Given the description of an element on the screen output the (x, y) to click on. 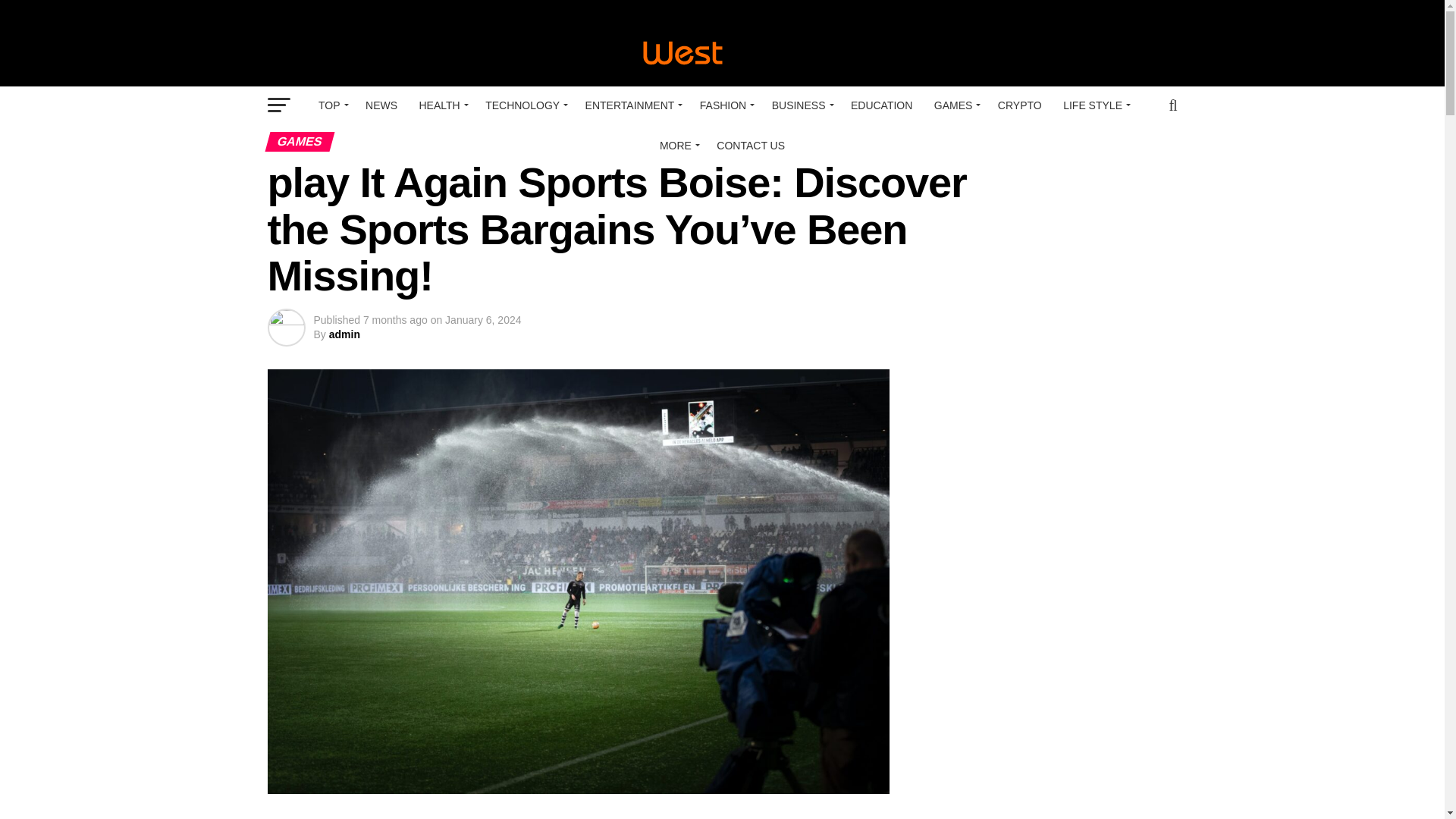
HEALTH (440, 105)
TECHNOLOGY (524, 105)
Posts by admin (344, 334)
TOP (330, 105)
NEWS (381, 105)
